Given the description of an element on the screen output the (x, y) to click on. 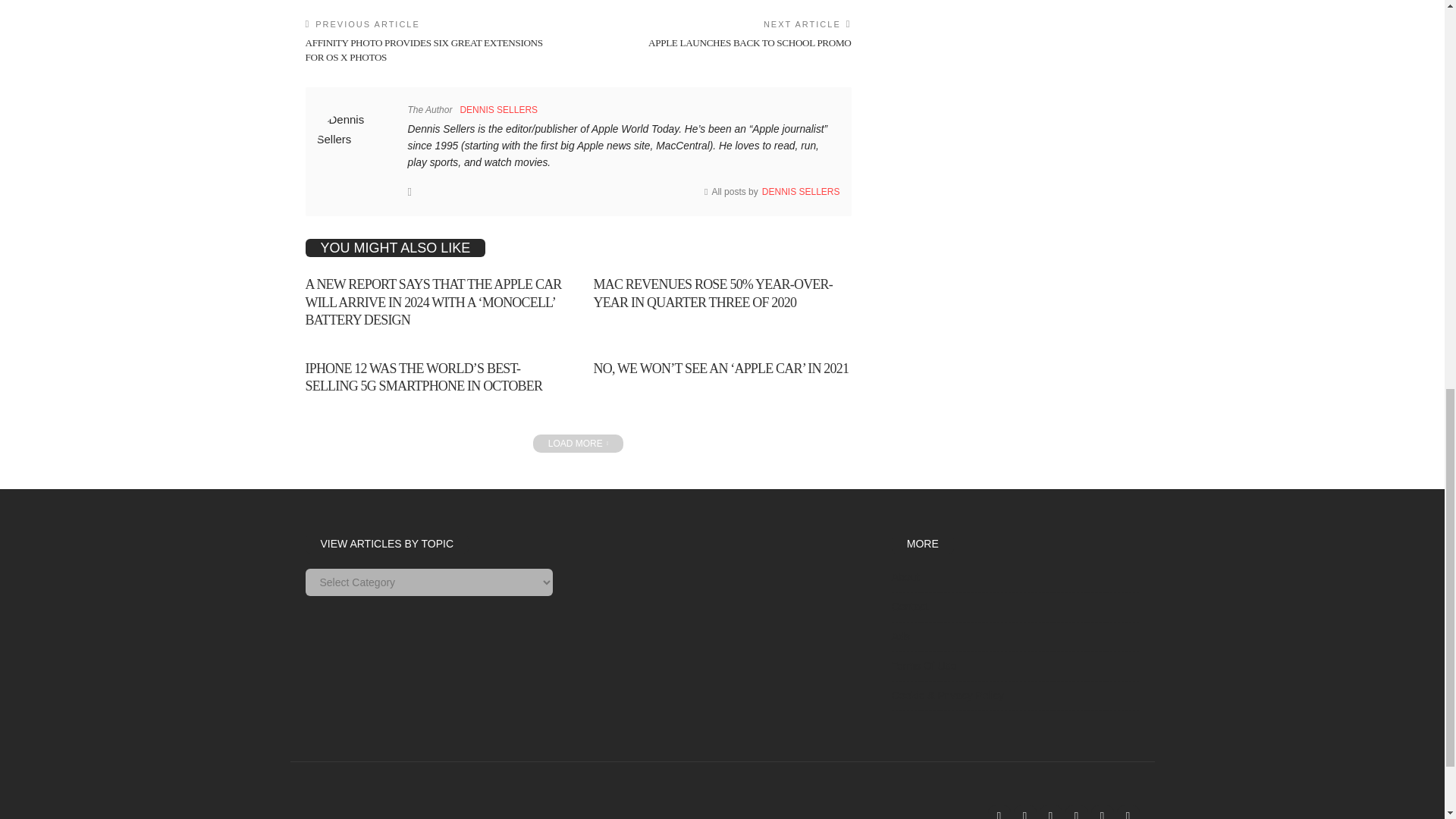
Apple launches Back to School promo (748, 42)
Affinity Photo provides six great extensions for OS X Photos (422, 49)
